Given the description of an element on the screen output the (x, y) to click on. 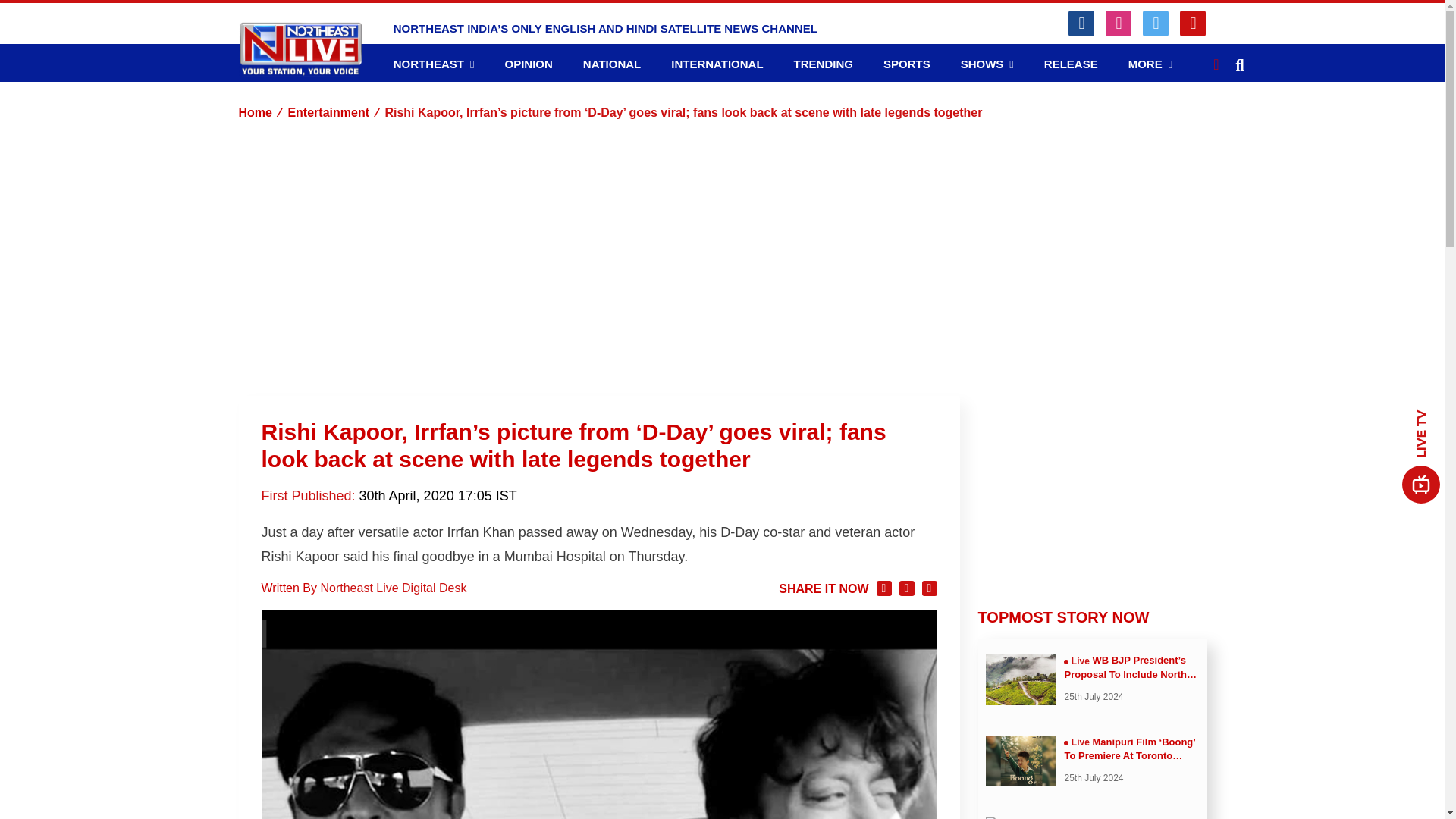
OPINION (527, 63)
NORTHEAST (433, 64)
Logo (299, 49)
SPORTS (906, 63)
Advertisement (1092, 490)
TRENDING (823, 63)
NATIONAL (611, 63)
SHOWS (986, 64)
INTERNATIONAL (716, 63)
